Given the description of an element on the screen output the (x, y) to click on. 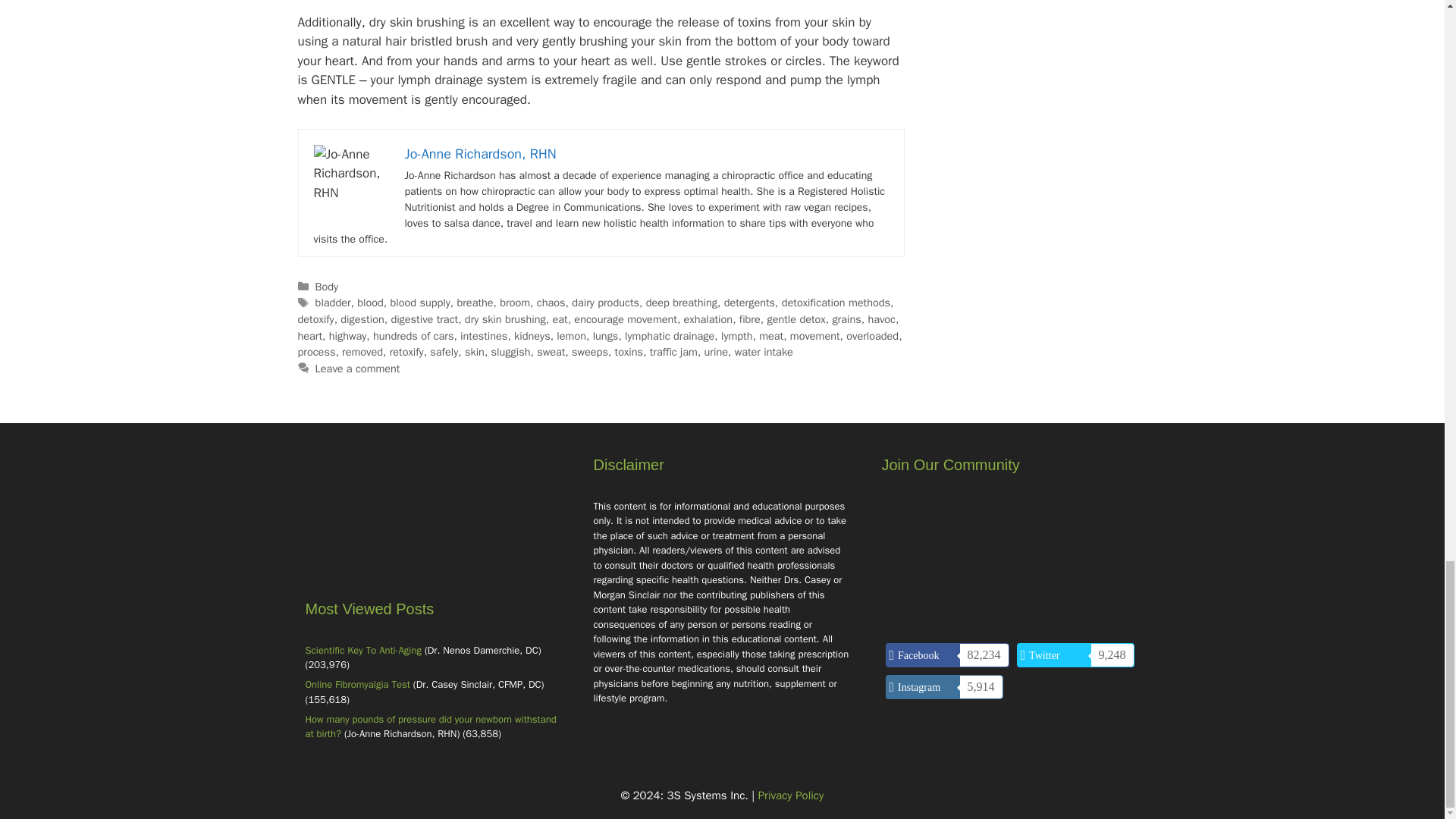
FHALogoWhite (433, 524)
